Given the description of an element on the screen output the (x, y) to click on. 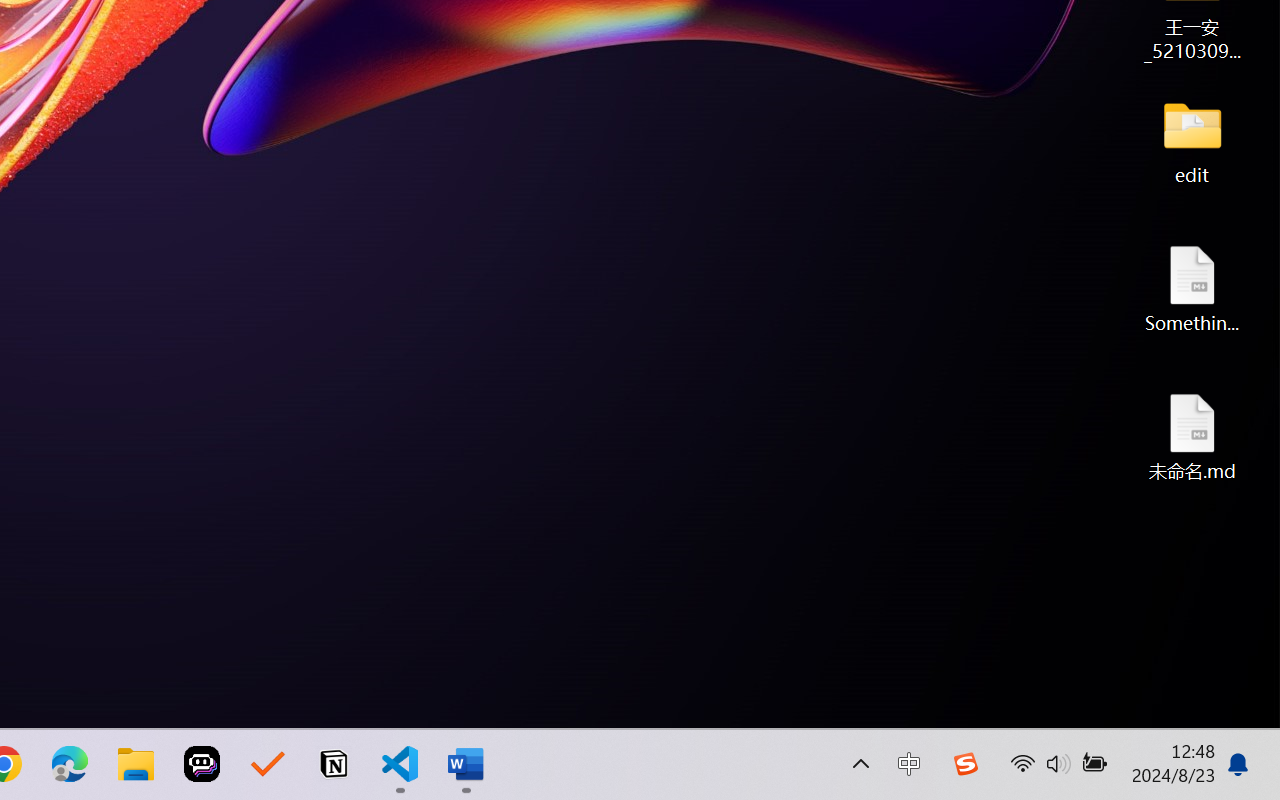
Something.md (1192, 288)
Microsoft Edge (69, 764)
